Given the description of an element on the screen output the (x, y) to click on. 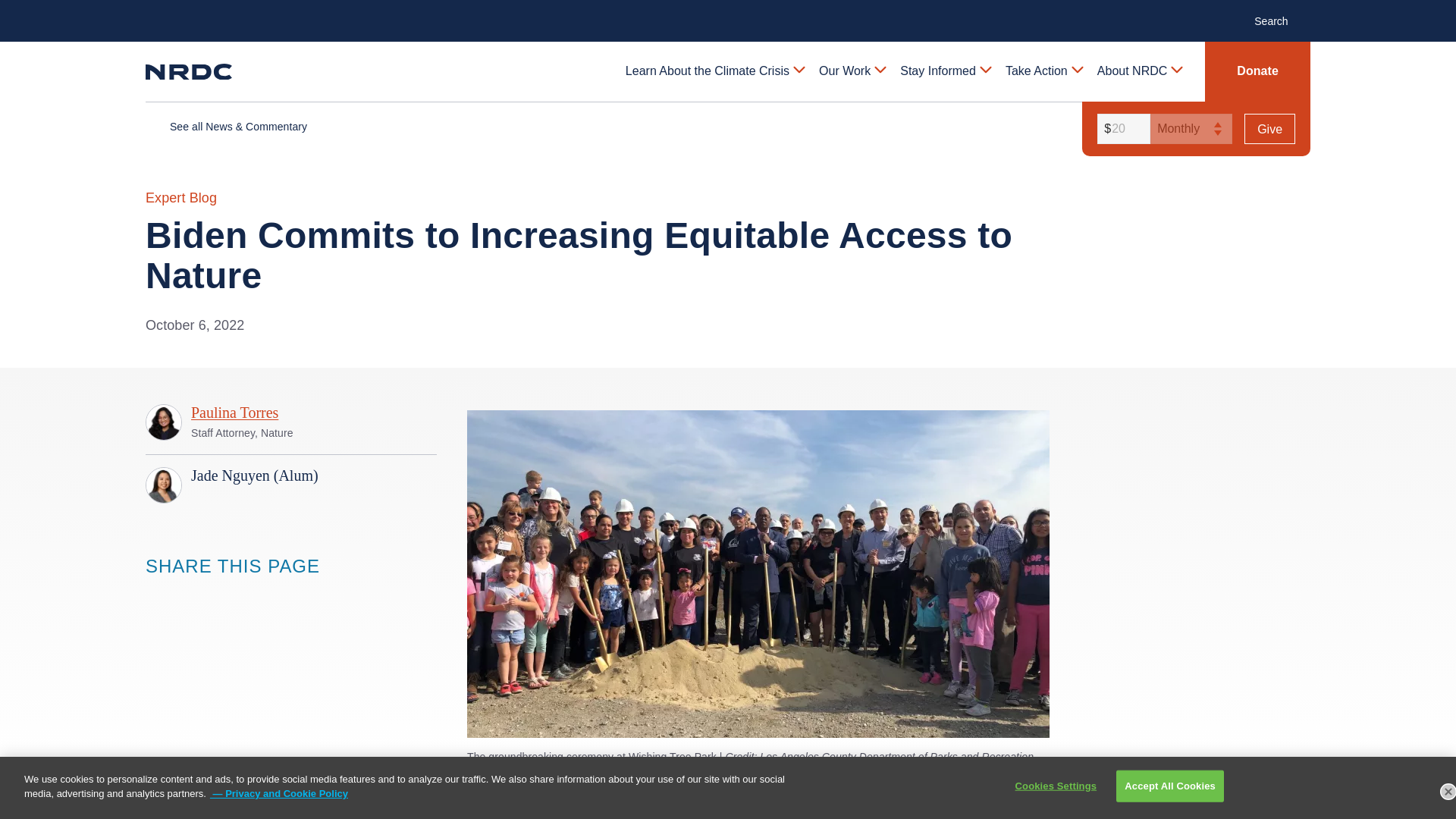
Our Work (850, 71)
Learn About the Climate Crisis (714, 71)
Share this page block (186, 595)
20 (1120, 128)
Search (1278, 19)
Stay Informed (944, 71)
Share this page block (216, 595)
Skip to main content (727, 12)
Share this page block (156, 595)
